Given the description of an element on the screen output the (x, y) to click on. 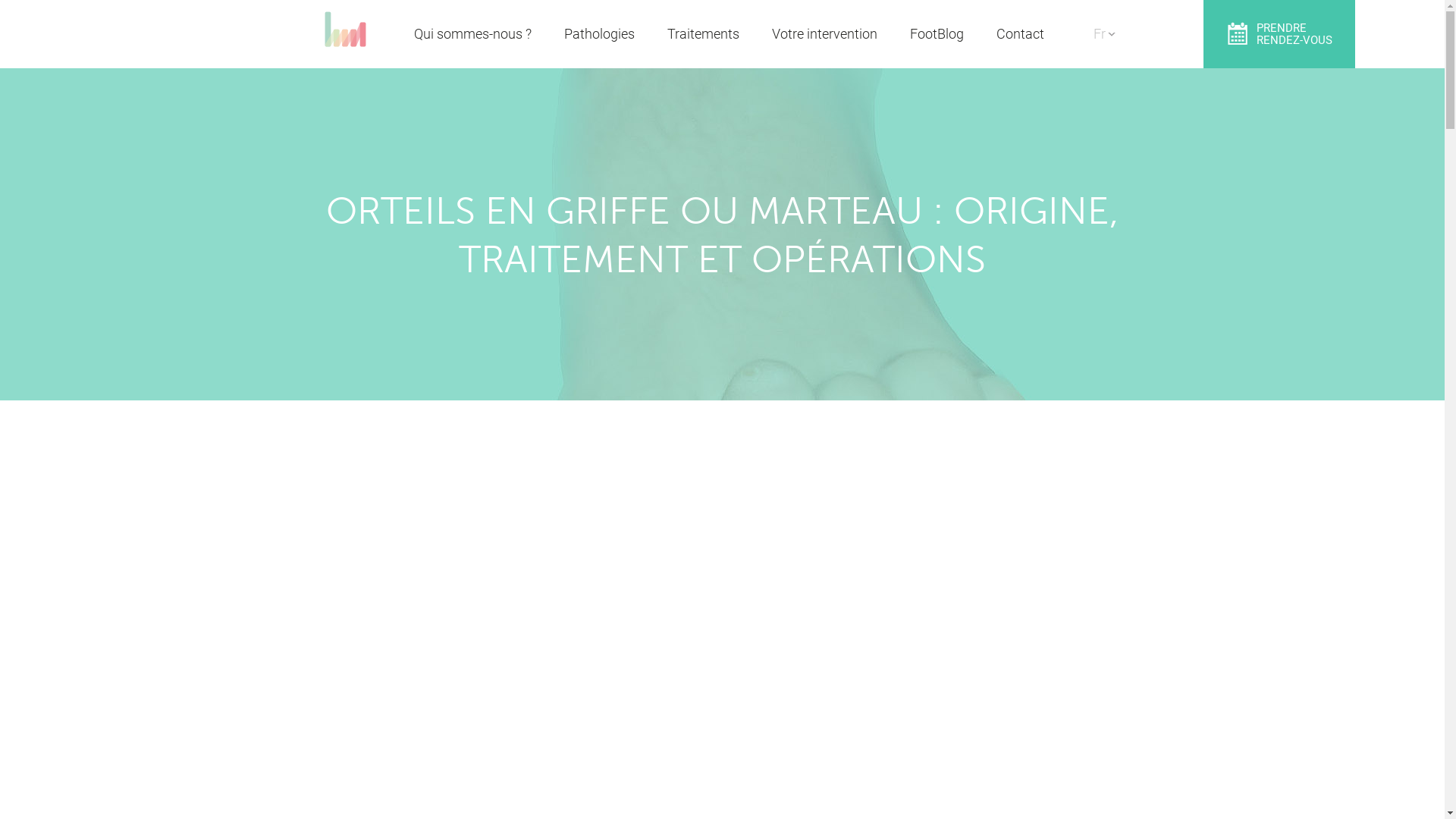
PRENDRE
RENDEZ-VOUS Element type: text (1279, 34)
Traitements Element type: text (703, 34)
Qui sommes-nous ? Element type: text (472, 34)
FootBlog Element type: text (936, 34)
Contact Element type: text (1020, 34)
Pathologies Element type: text (599, 34)
Fr Element type: text (1099, 21)
Votre intervention Element type: text (824, 34)
